Given the description of an element on the screen output the (x, y) to click on. 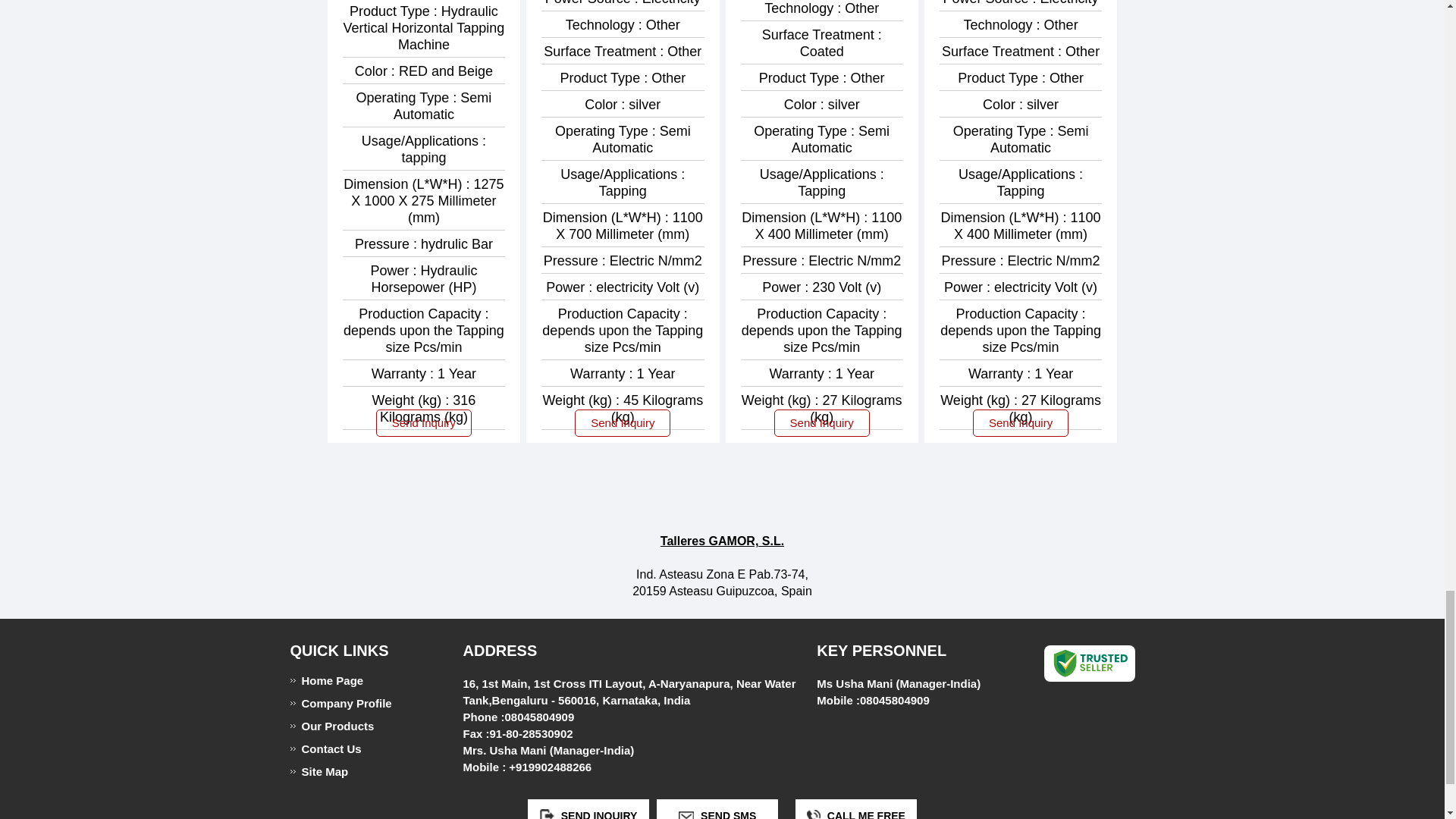
Call Me Free (813, 814)
Send SMS (686, 814)
Send Inquiry (547, 814)
